Given the description of an element on the screen output the (x, y) to click on. 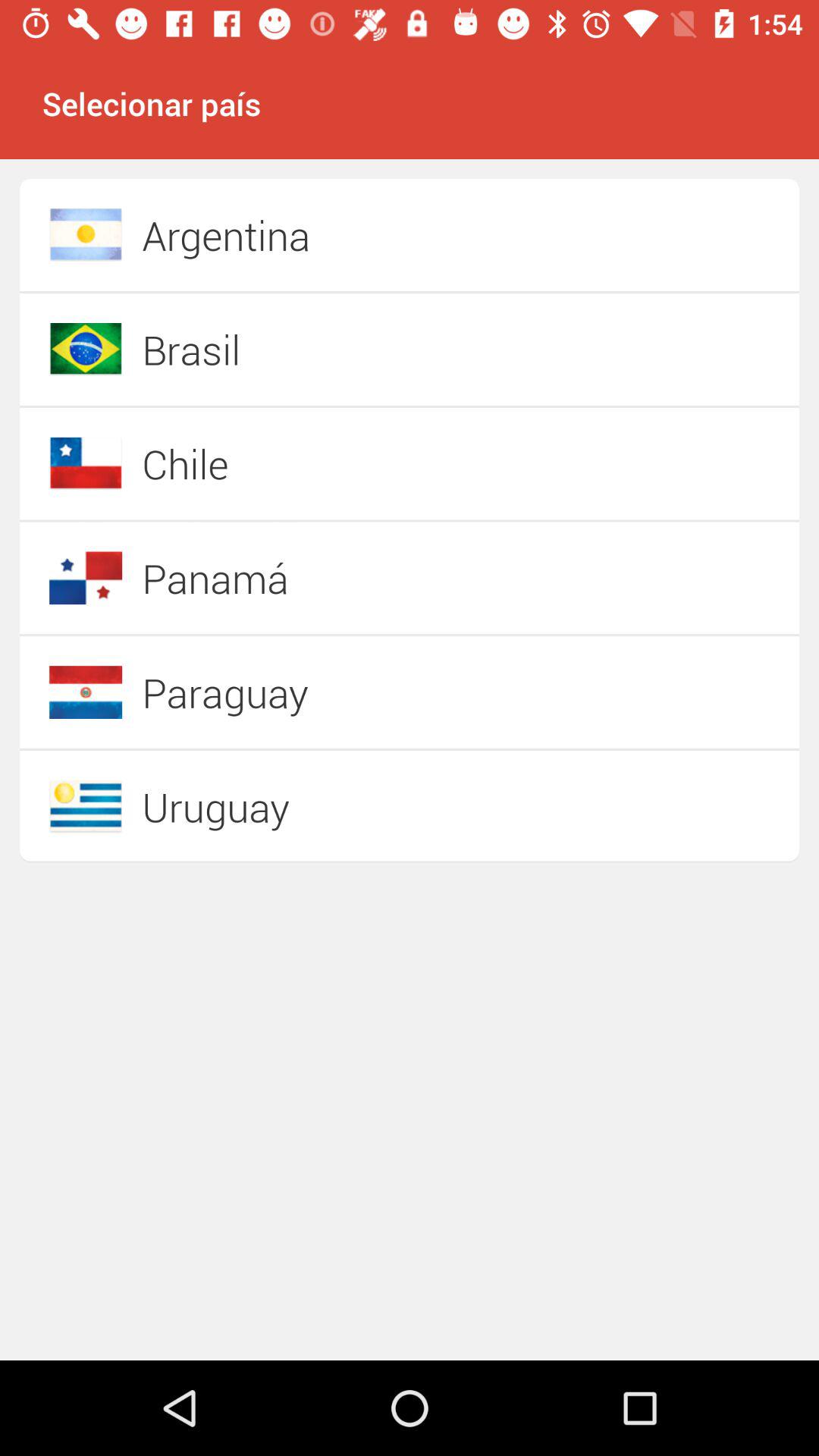
scroll to the brasil item (356, 349)
